Given the description of an element on the screen output the (x, y) to click on. 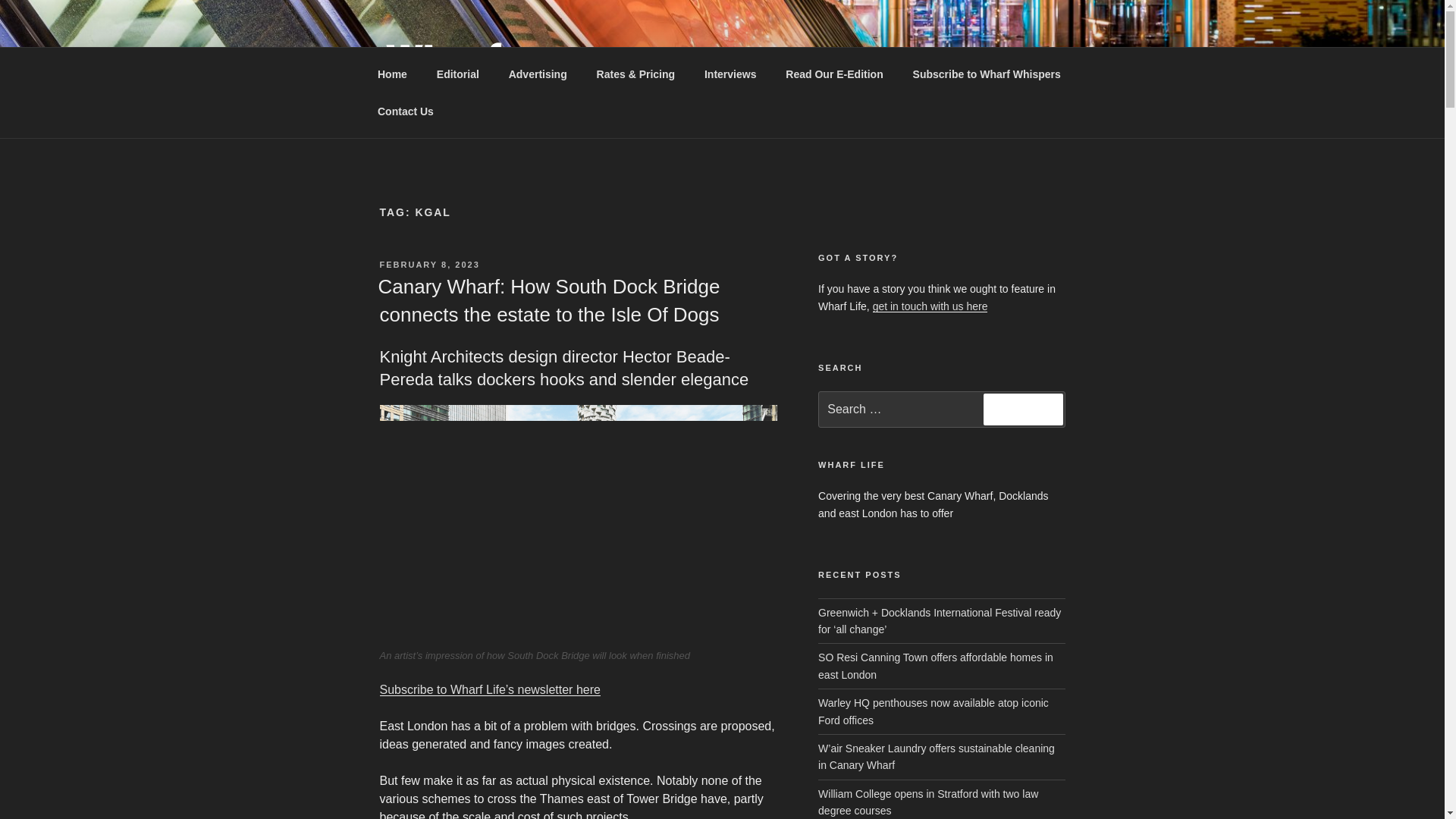
Warley HQ penthouses now available atop iconic Ford offices (933, 710)
FEBRUARY 8, 2023 (428, 264)
SO Resi Canning Town offers affordable homes in east London (935, 665)
Home (392, 74)
Editorial (457, 74)
Interviews (729, 74)
Read Our E-Edition (834, 74)
Advertising (537, 74)
